Given the description of an element on the screen output the (x, y) to click on. 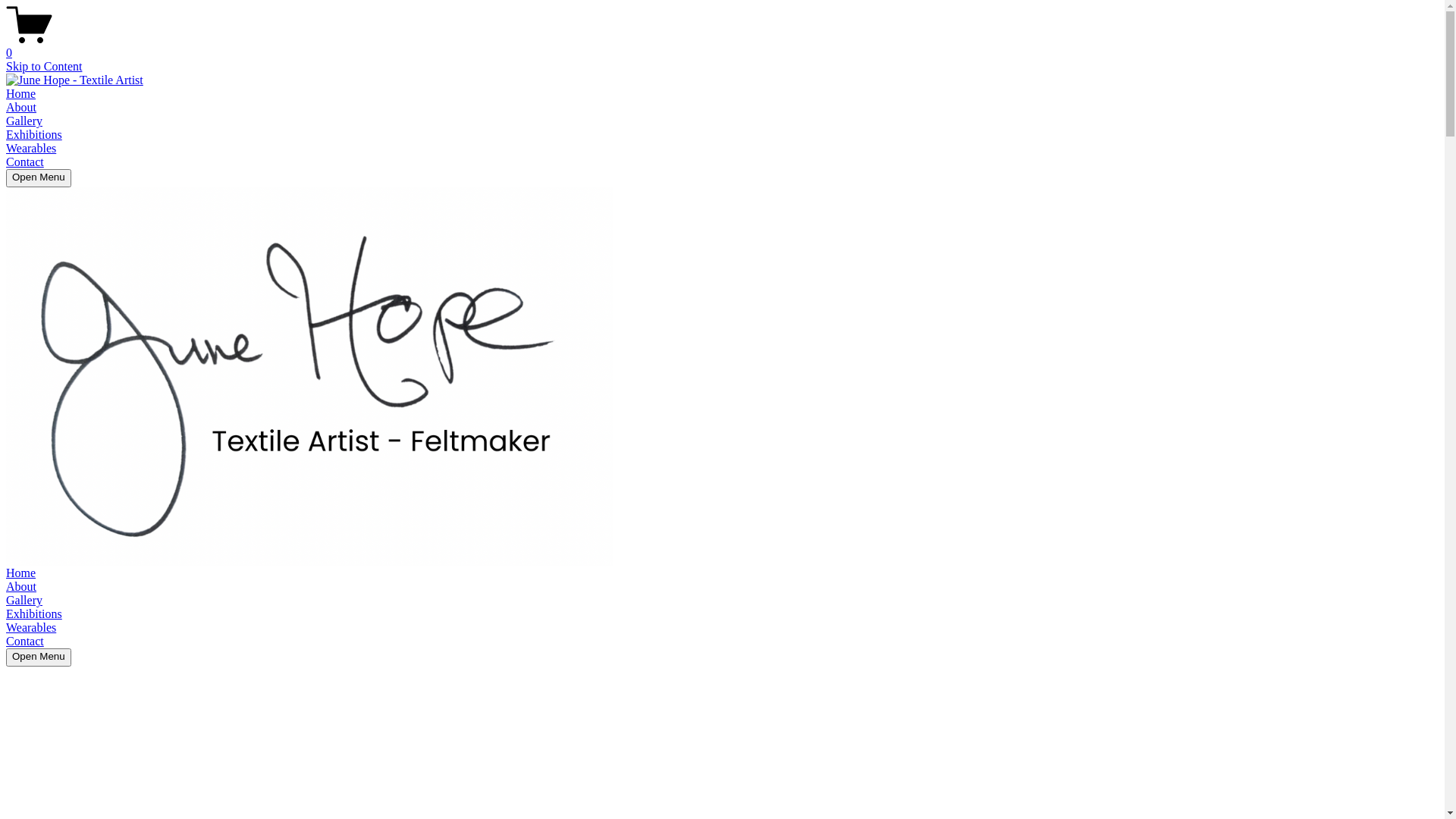
0 Element type: text (722, 45)
Open Menu Element type: text (38, 178)
Wearables Element type: text (31, 627)
Skip to Content Element type: text (43, 65)
Gallery Element type: text (24, 599)
Exhibitions Element type: text (34, 134)
Gallery Element type: text (24, 120)
About Element type: text (21, 586)
Home Element type: text (20, 572)
About Element type: text (21, 106)
Wearables Element type: text (31, 147)
Exhibitions Element type: text (34, 613)
Home Element type: text (20, 93)
Contact Element type: text (24, 161)
Contact Element type: text (24, 640)
Open Menu Element type: text (38, 657)
